Given the description of an element on the screen output the (x, y) to click on. 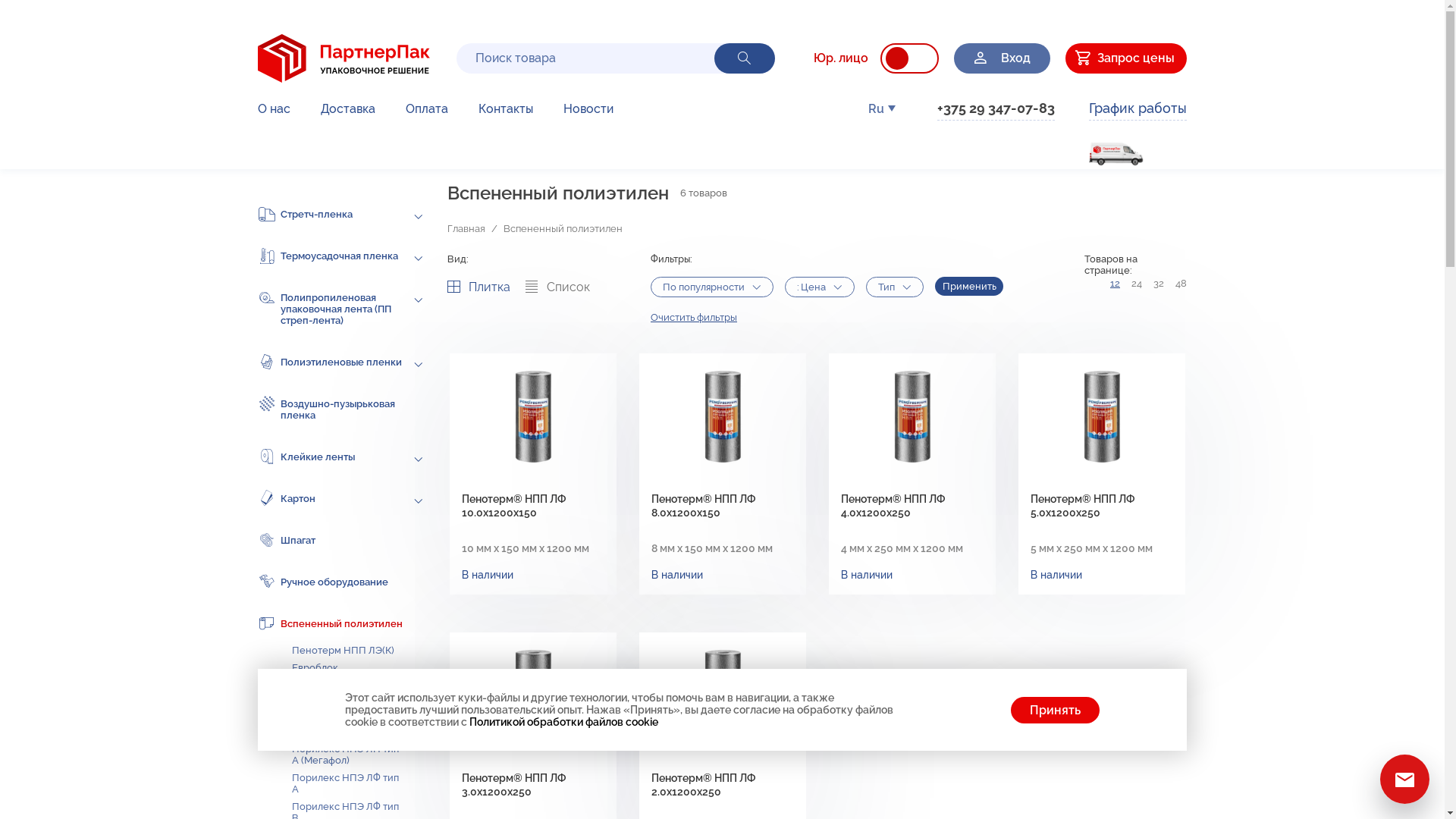
+375 29 347-07-83 Element type: text (995, 110)
